Given the description of an element on the screen output the (x, y) to click on. 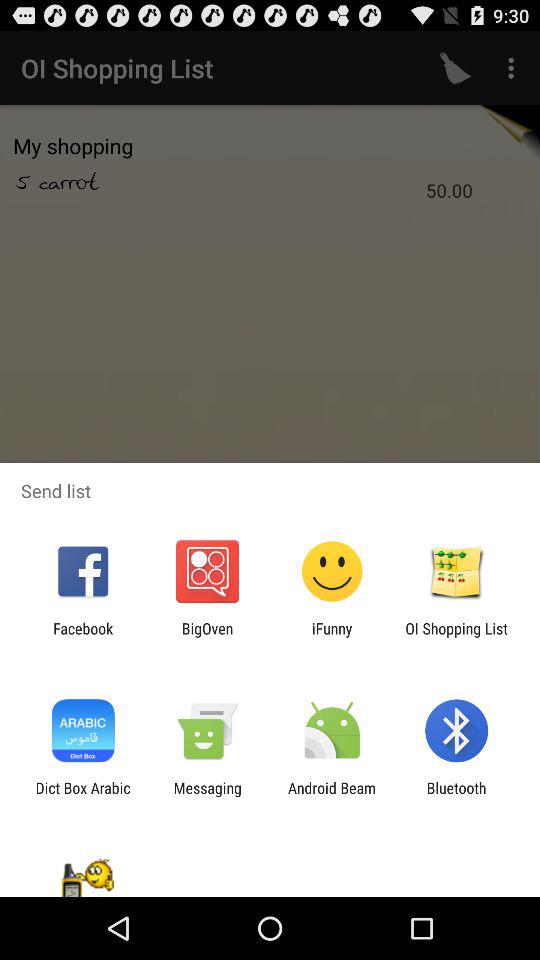
swipe until dict box arabic item (82, 796)
